Given the description of an element on the screen output the (x, y) to click on. 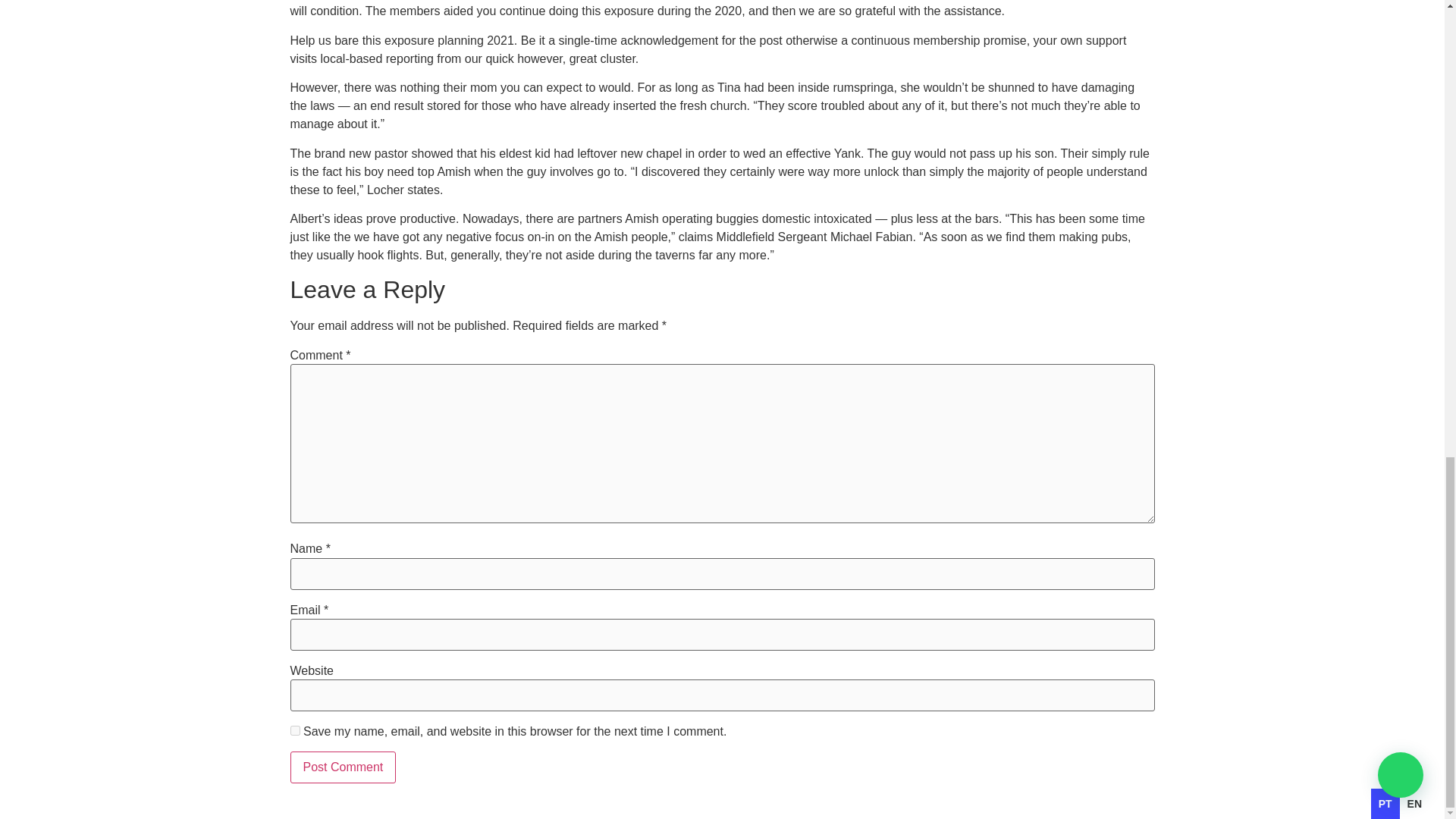
yes (294, 730)
Post Comment (342, 766)
Post Comment (342, 766)
